Given the description of an element on the screen output the (x, y) to click on. 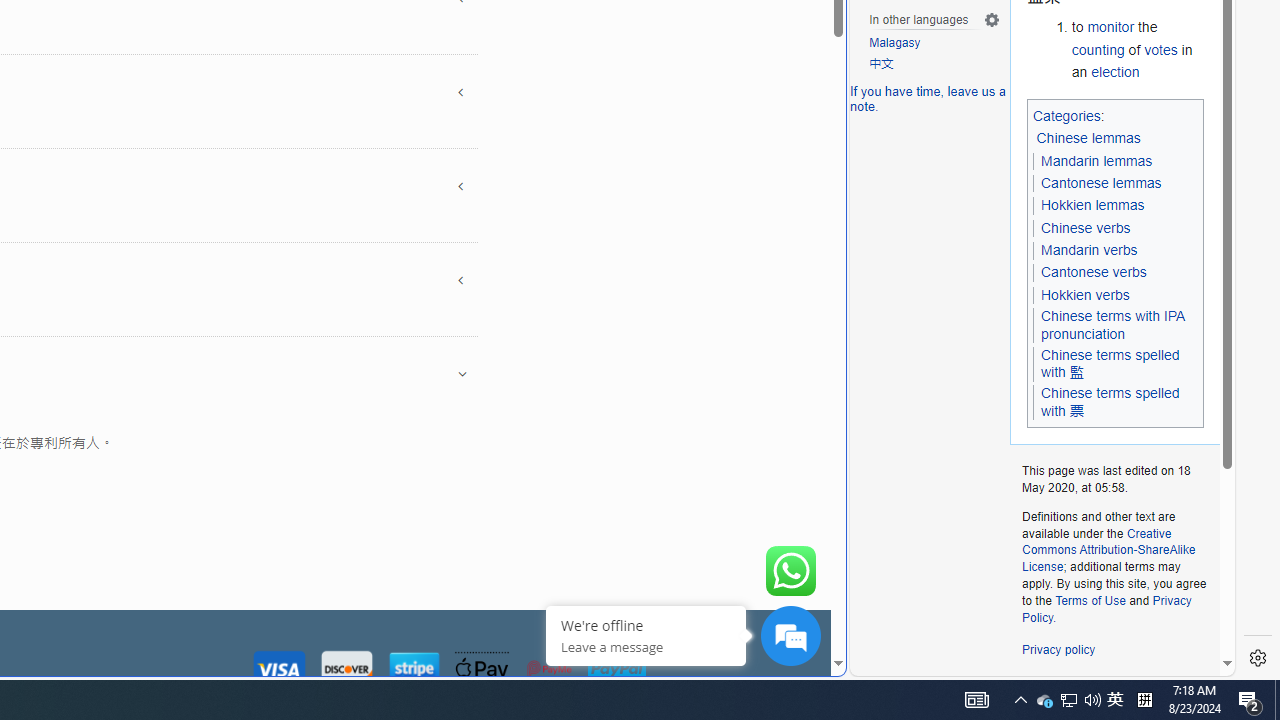
Chinese terms with IPA pronunciation (1112, 325)
Chinese lemmas (1090, 139)
Hokkien verbs (1085, 294)
votes (1160, 49)
Hokkien lemmas (1092, 205)
Chinese lemmas (1087, 138)
Mandarin verbs (1088, 250)
Hokkien lemmas (1092, 206)
